Given the description of an element on the screen output the (x, y) to click on. 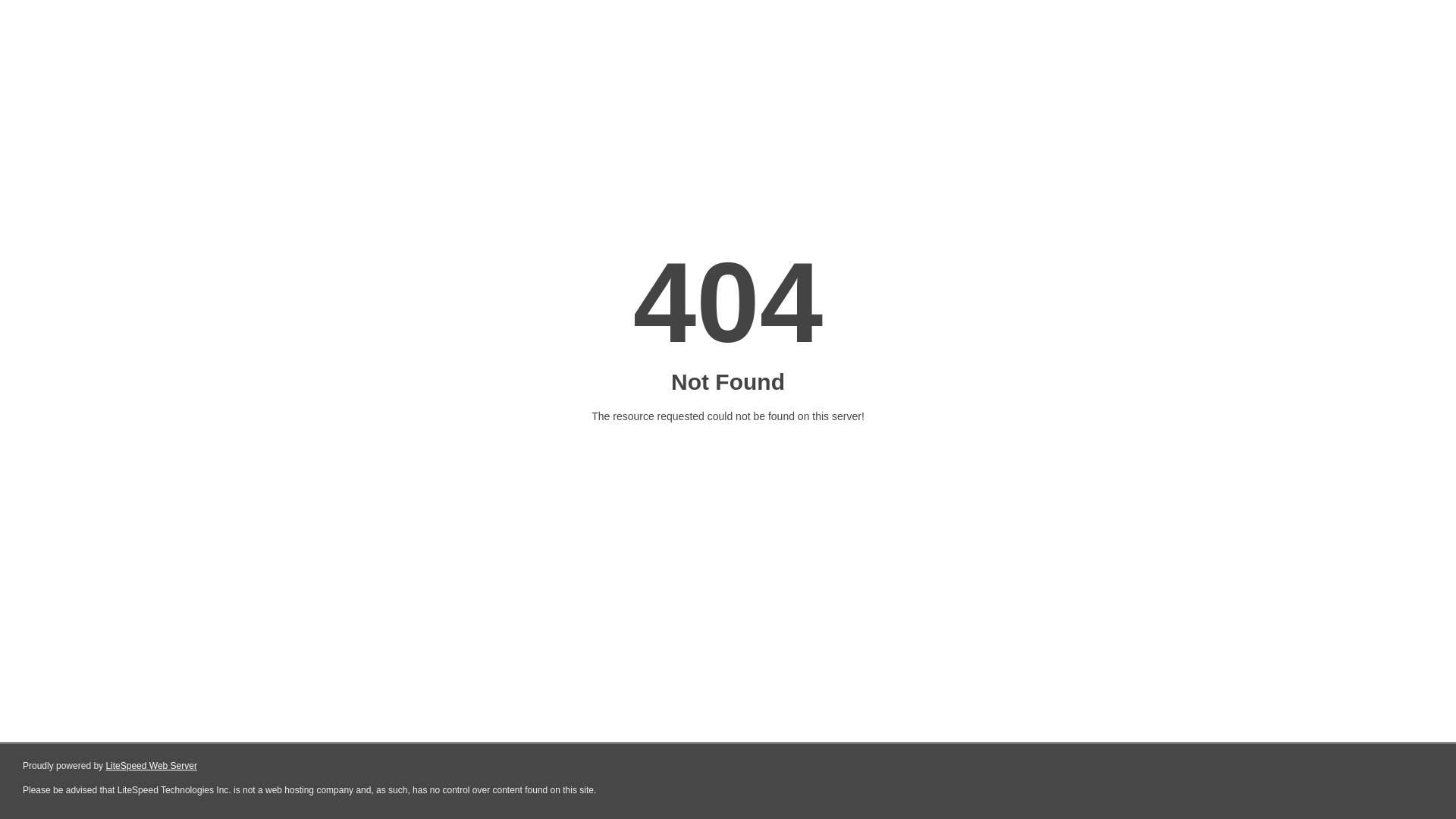
LiteSpeed Web Server Element type: text (151, 765)
